Given the description of an element on the screen output the (x, y) to click on. 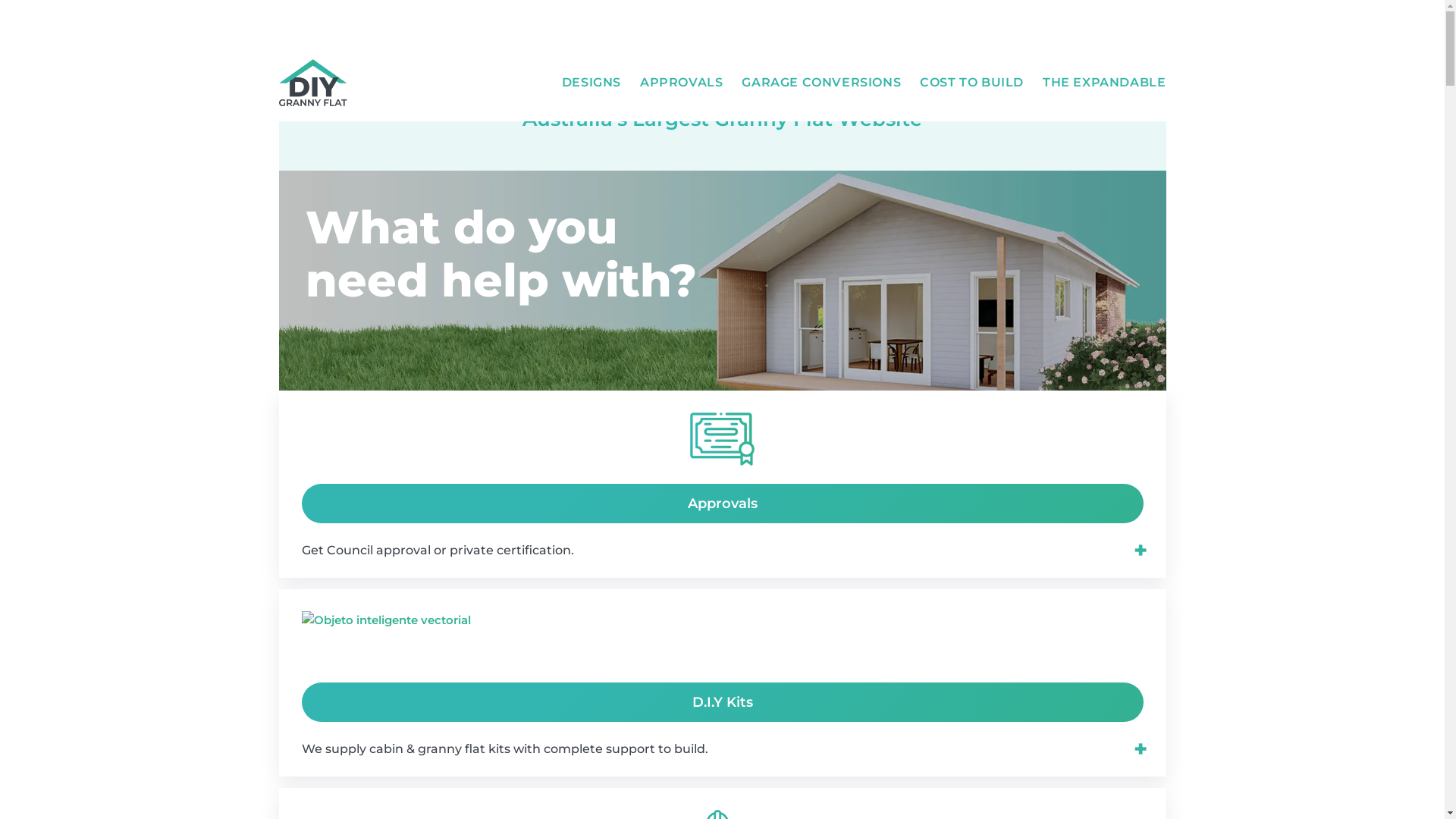
COST TO BUILD Element type: text (971, 82)
DESIGNS Element type: text (591, 82)
Approvals

Get Council approval or private certification. Element type: text (722, 504)
THE EXPANDABLE Element type: text (1103, 82)
GARAGE CONVERSIONS Element type: text (820, 82)
APPROVALS Element type: text (681, 82)
